Given the description of an element on the screen output the (x, y) to click on. 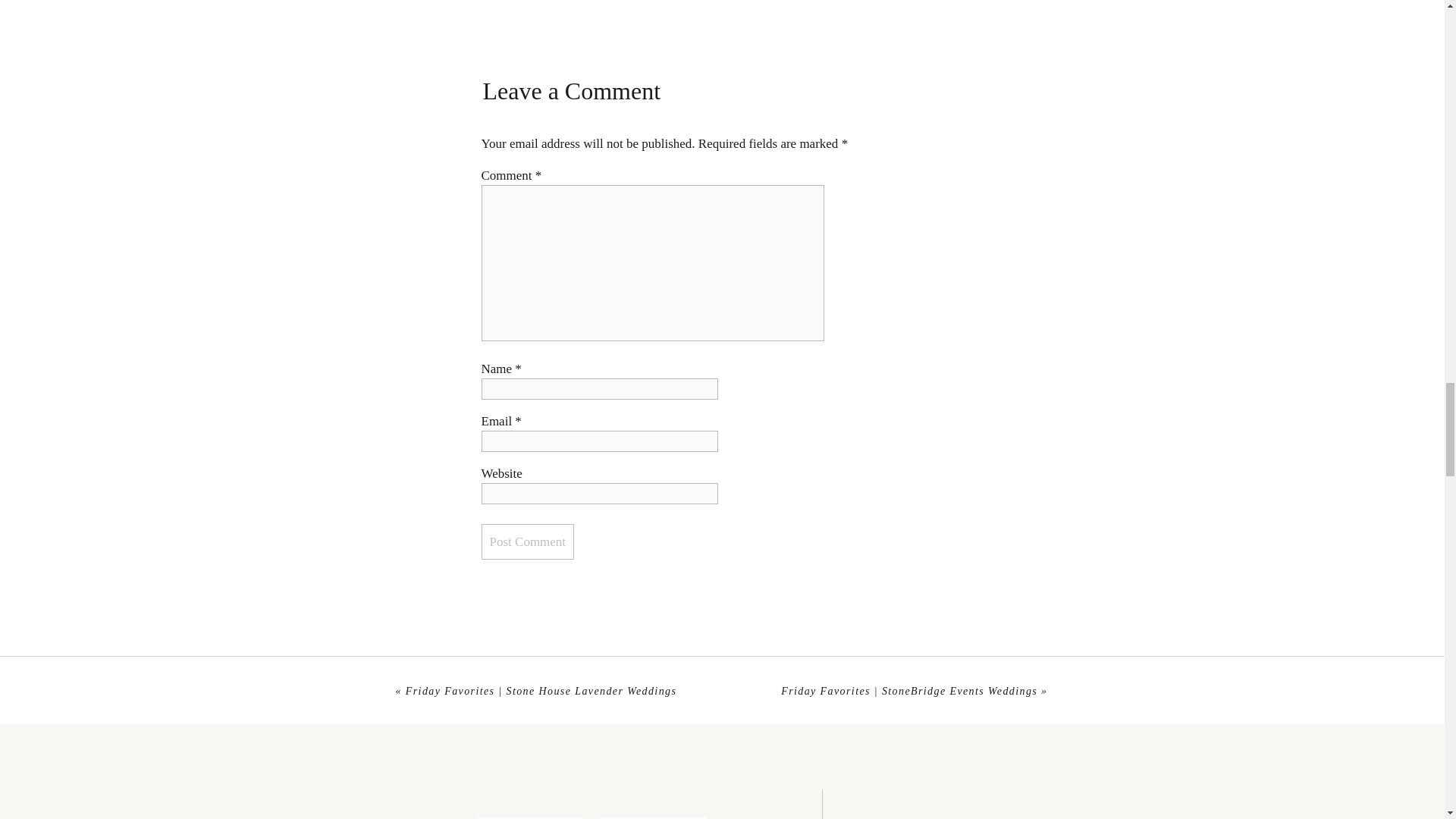
Post Comment (526, 541)
Post Comment (526, 541)
